Given the description of an element on the screen output the (x, y) to click on. 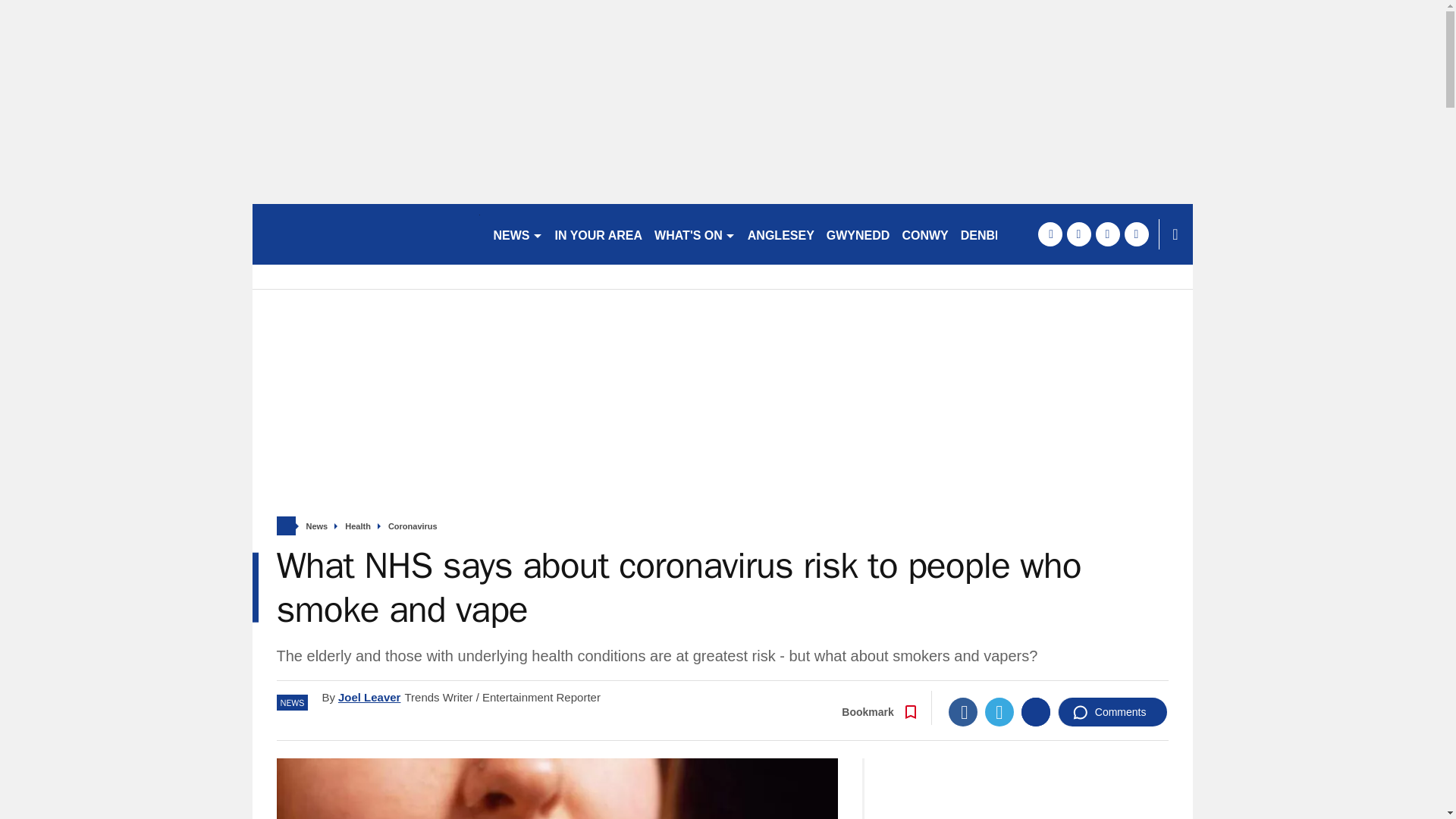
ANGLESEY (781, 233)
DENBIGHSHIRE (1007, 233)
CONWY (924, 233)
instagram (1136, 233)
Facebook (962, 711)
Twitter (999, 711)
twitter (1077, 233)
pinterest (1106, 233)
NEWS (517, 233)
GWYNEDD (858, 233)
